Given the description of an element on the screen output the (x, y) to click on. 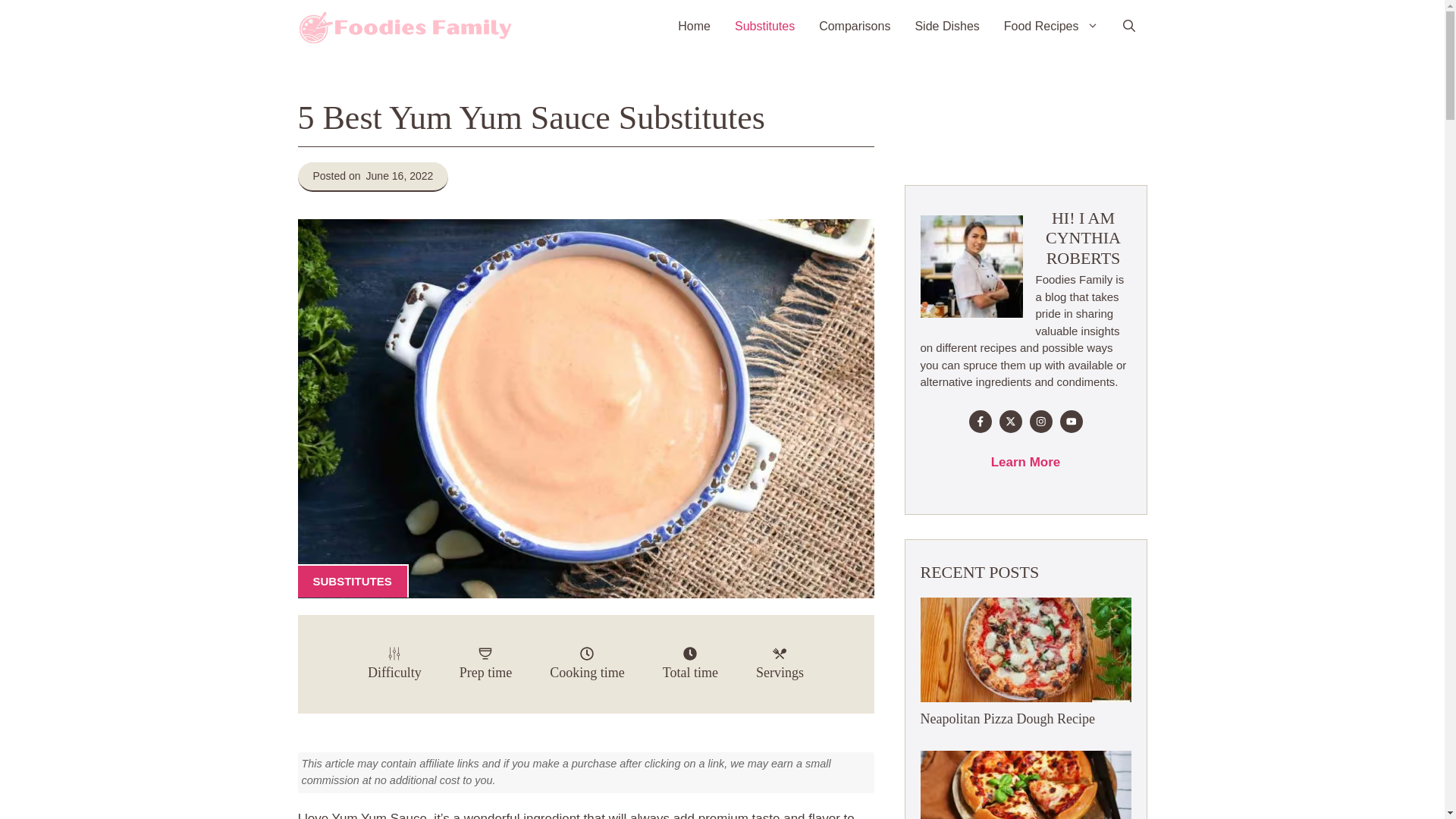
Side Dishes (946, 26)
Food Recipes (1050, 26)
Comparisons (854, 26)
Home (693, 26)
Foodies Family (405, 26)
Substitutes (764, 26)
SUBSTITUTES (352, 581)
